Given the description of an element on the screen output the (x, y) to click on. 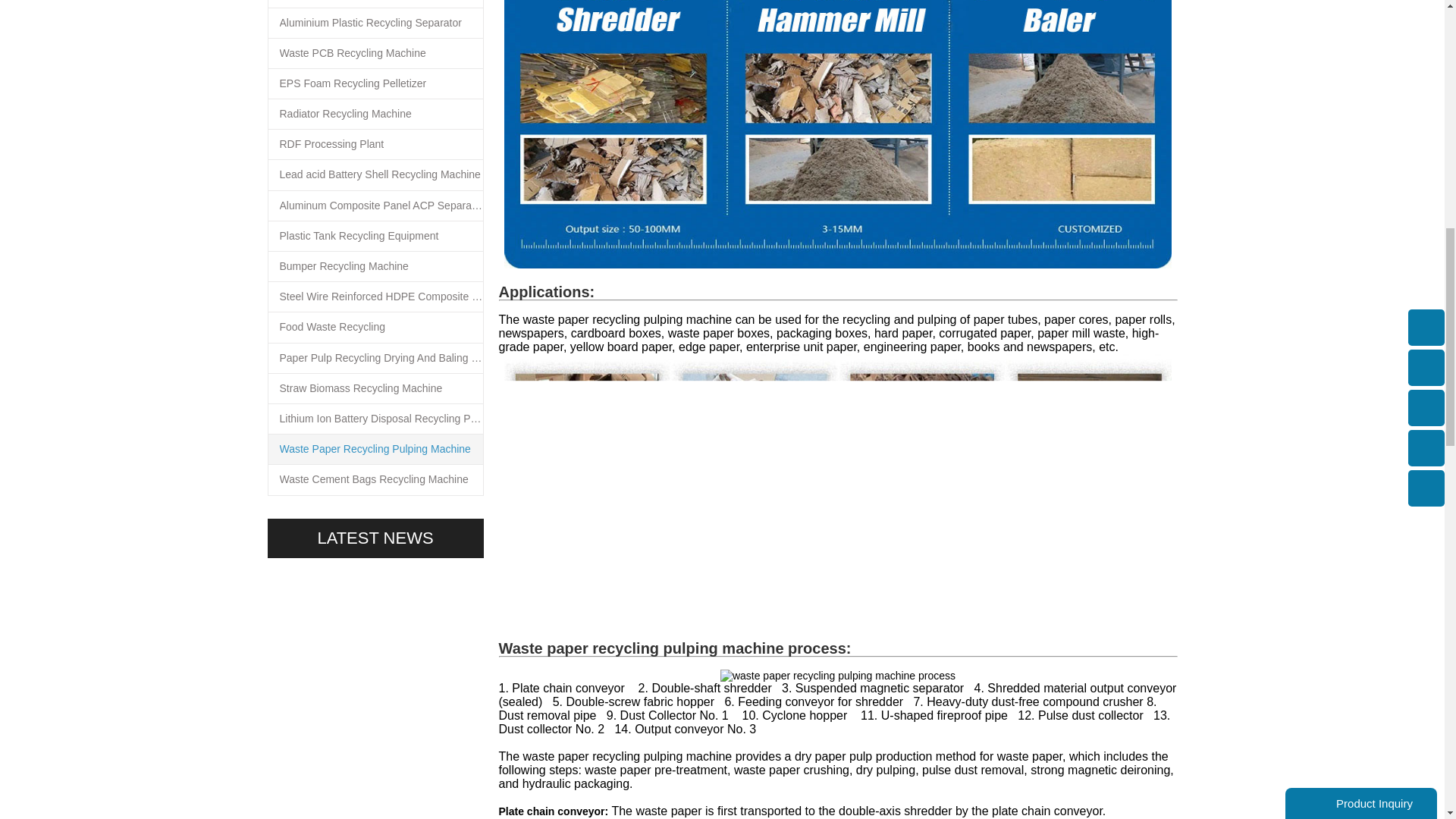
waste paper recycling pulping machine process (837, 675)
SUBMIT (1330, 275)
